Given the description of an element on the screen output the (x, y) to click on. 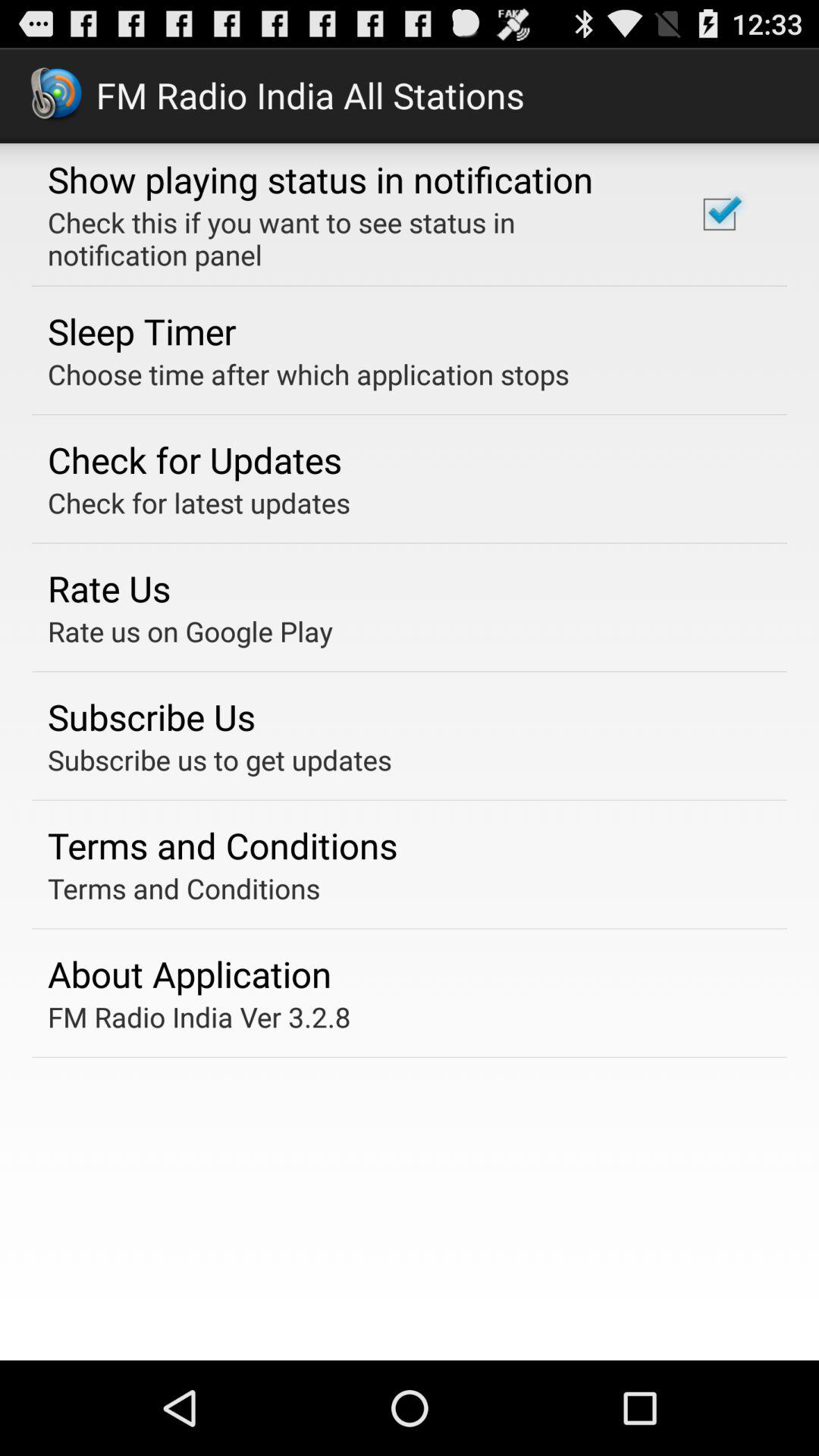
turn on the item below the show playing status (351, 238)
